Given the description of an element on the screen output the (x, y) to click on. 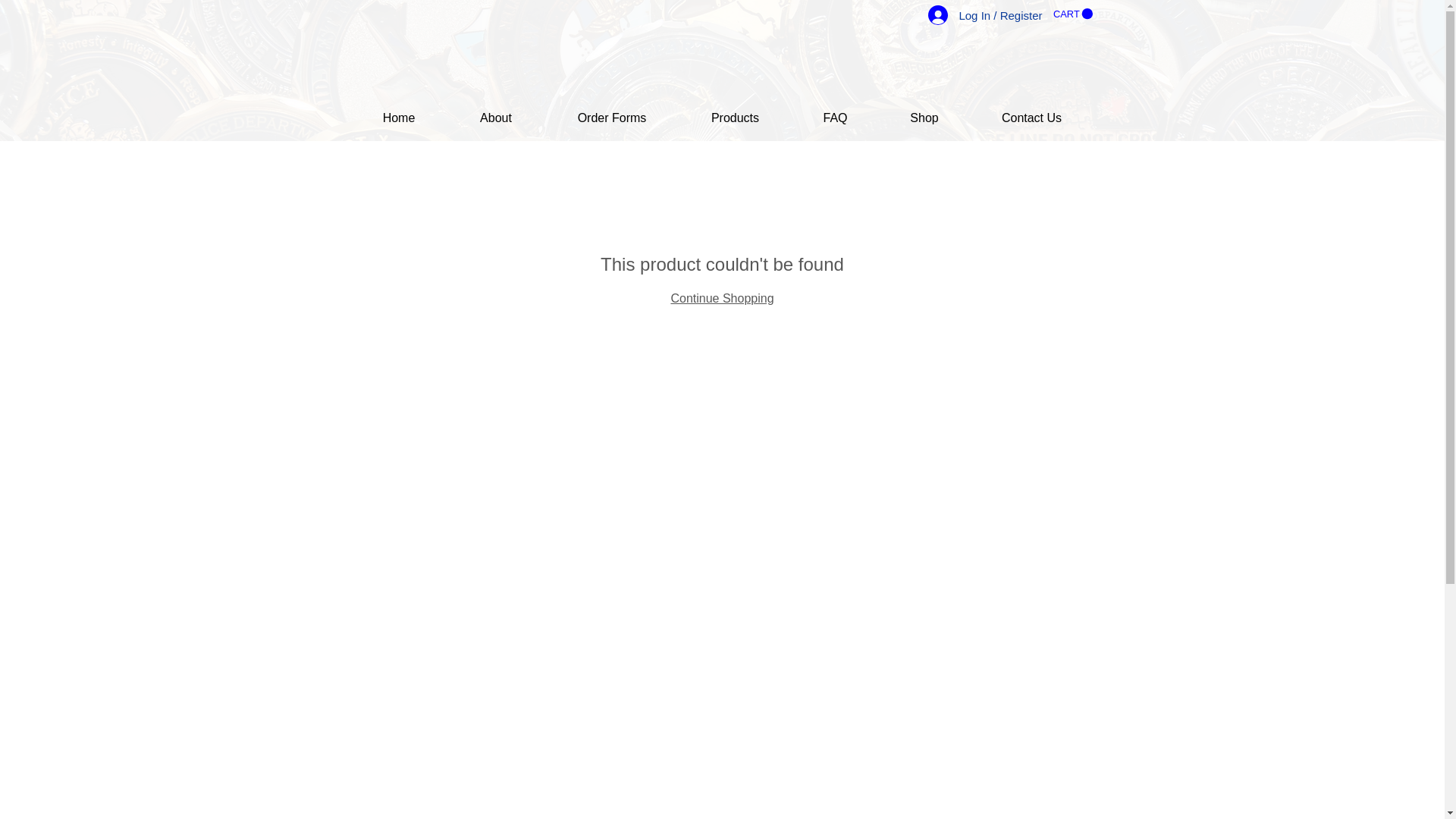
CART (1072, 13)
Continue Shopping (721, 297)
CART (1072, 13)
FAQ (835, 118)
Contact Us (1031, 118)
Home (398, 118)
